Given the description of an element on the screen output the (x, y) to click on. 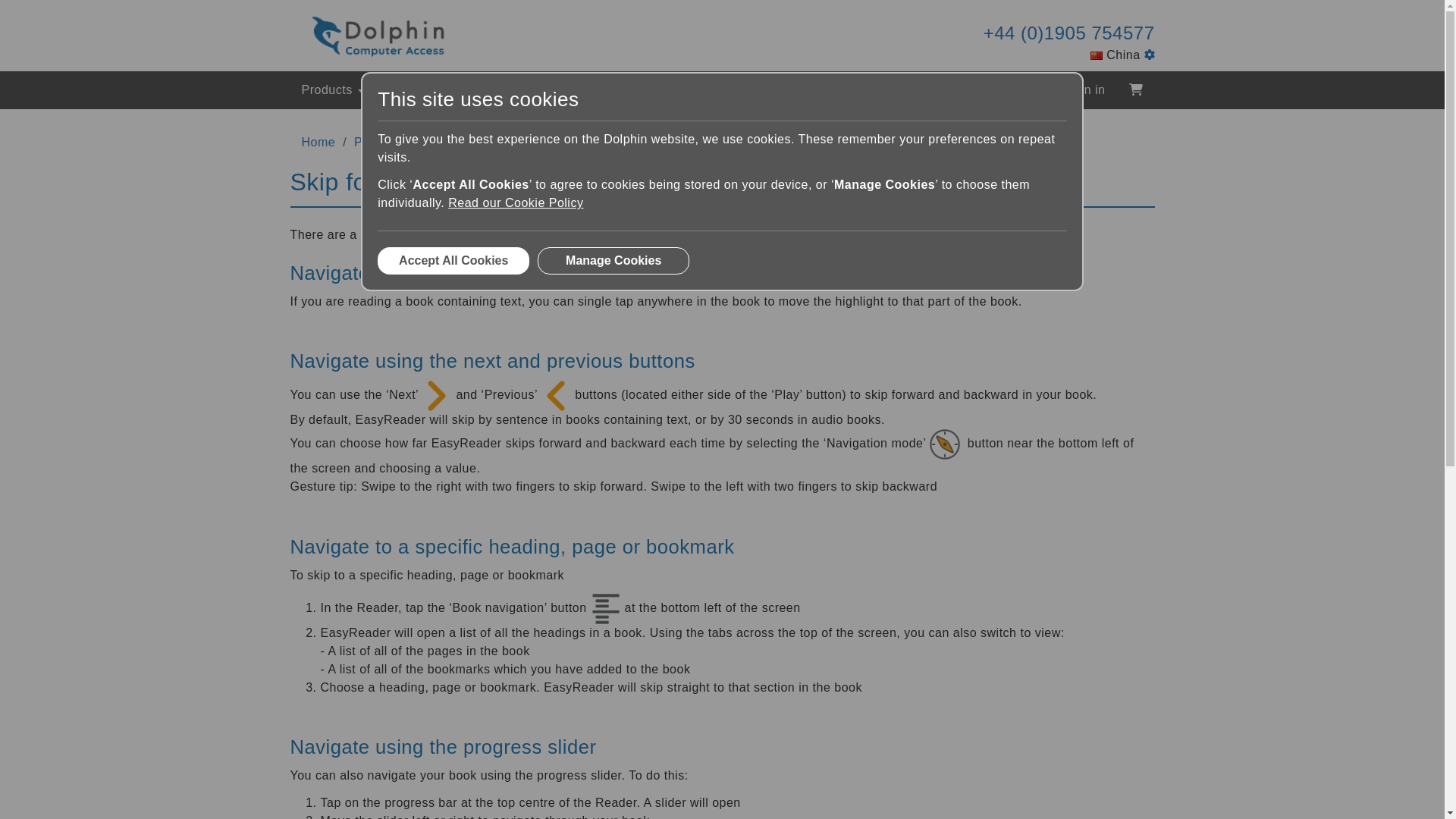
Shopping Basket (1135, 89)
Change Country or Language (1148, 54)
Products (331, 89)
Sectors (413, 89)
Search site (1022, 90)
